Given the description of an element on the screen output the (x, y) to click on. 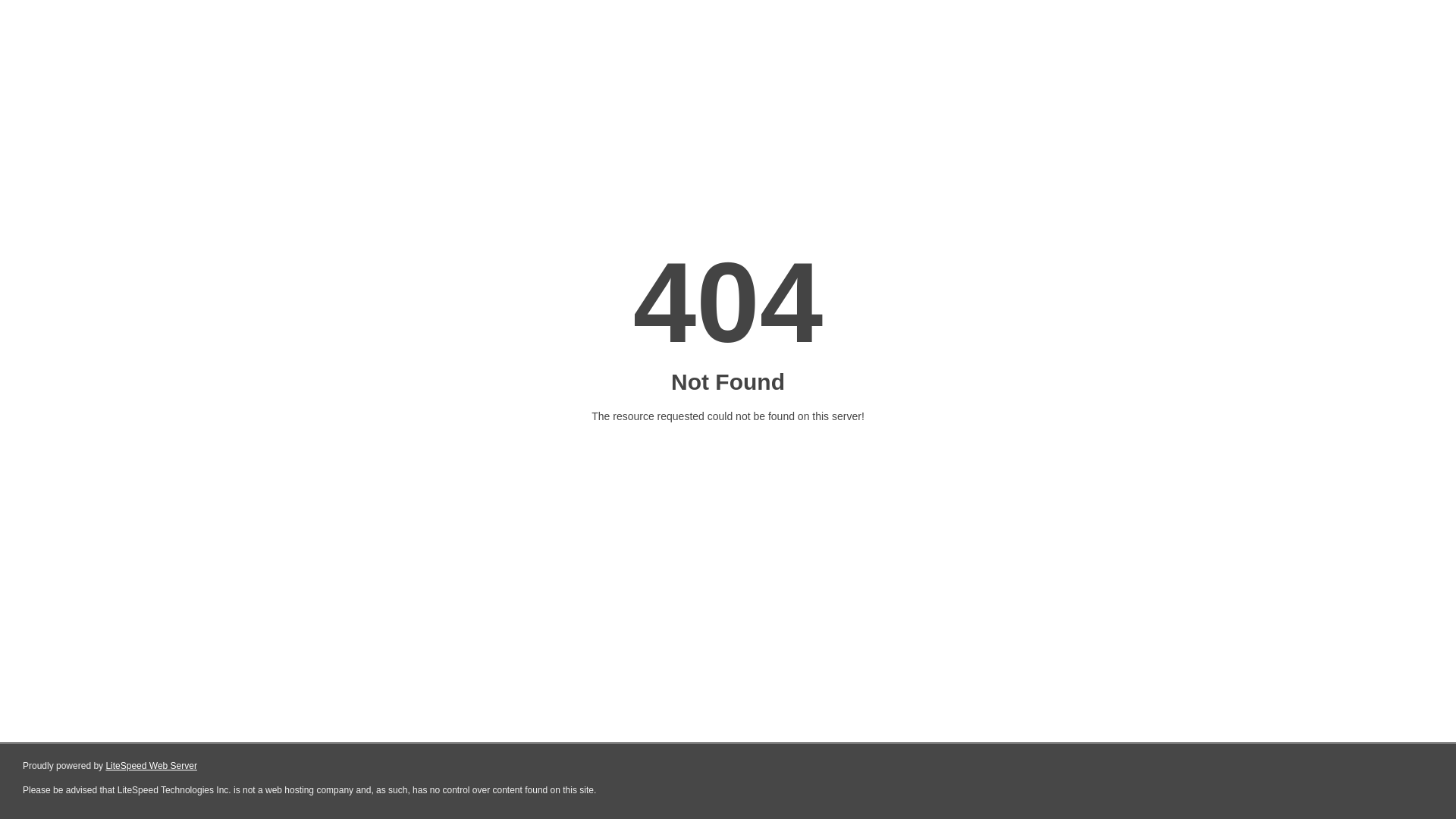
LiteSpeed Web Server Element type: text (151, 765)
